Given the description of an element on the screen output the (x, y) to click on. 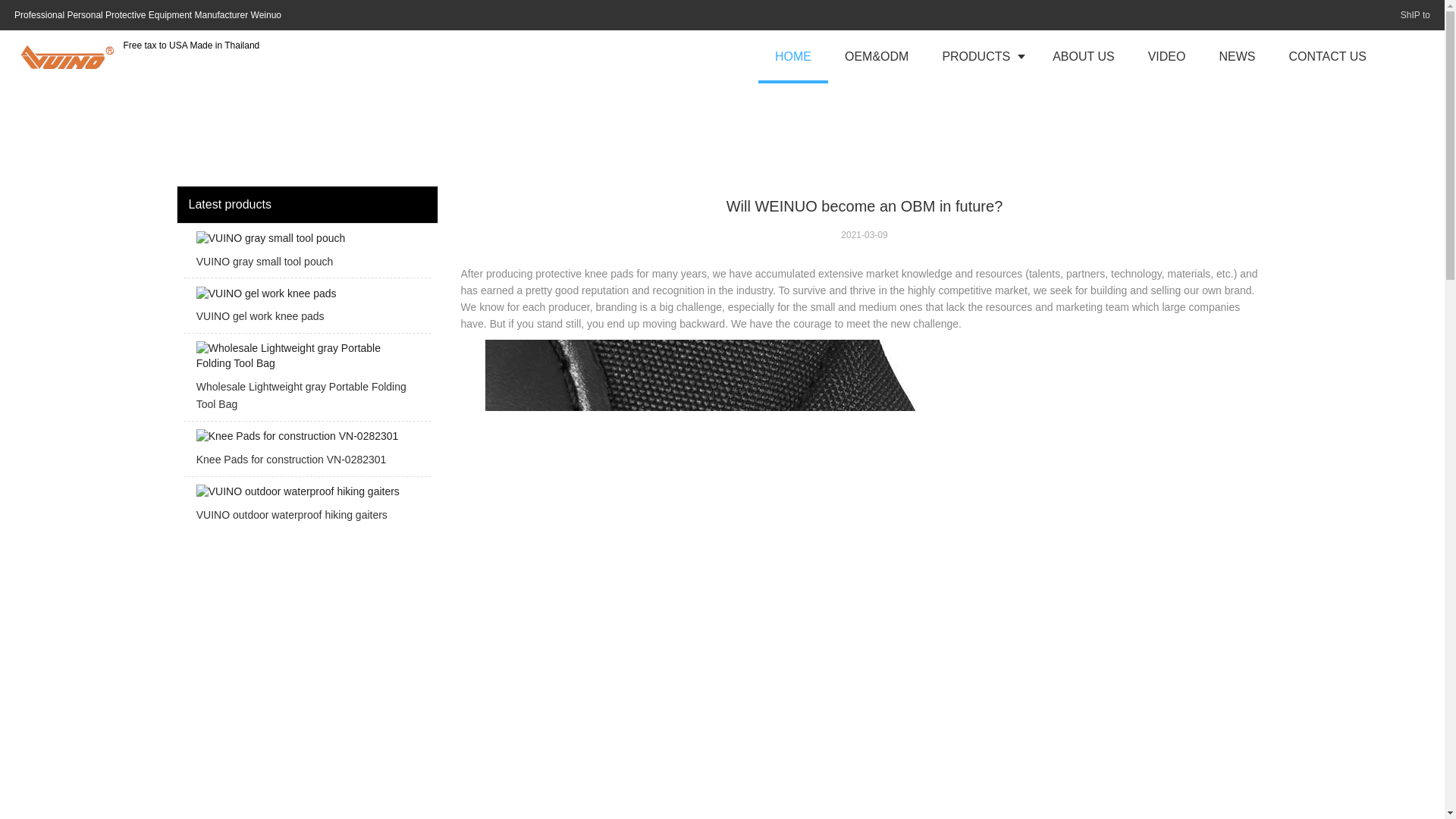
knee pad for work (615, 503)
Wholesale Lightweight gray Portable Folding Tool Bag (306, 380)
ABOUT US (1083, 56)
PRODUCTS (979, 56)
Knee Pads for construction VN-0282301 (306, 452)
boot gaiters (708, 405)
VIDEO (1166, 56)
HOME (793, 56)
VUINO outdoor waterproof hiking gaiters (306, 507)
CONTACT US (1327, 56)
